Given the description of an element on the screen output the (x, y) to click on. 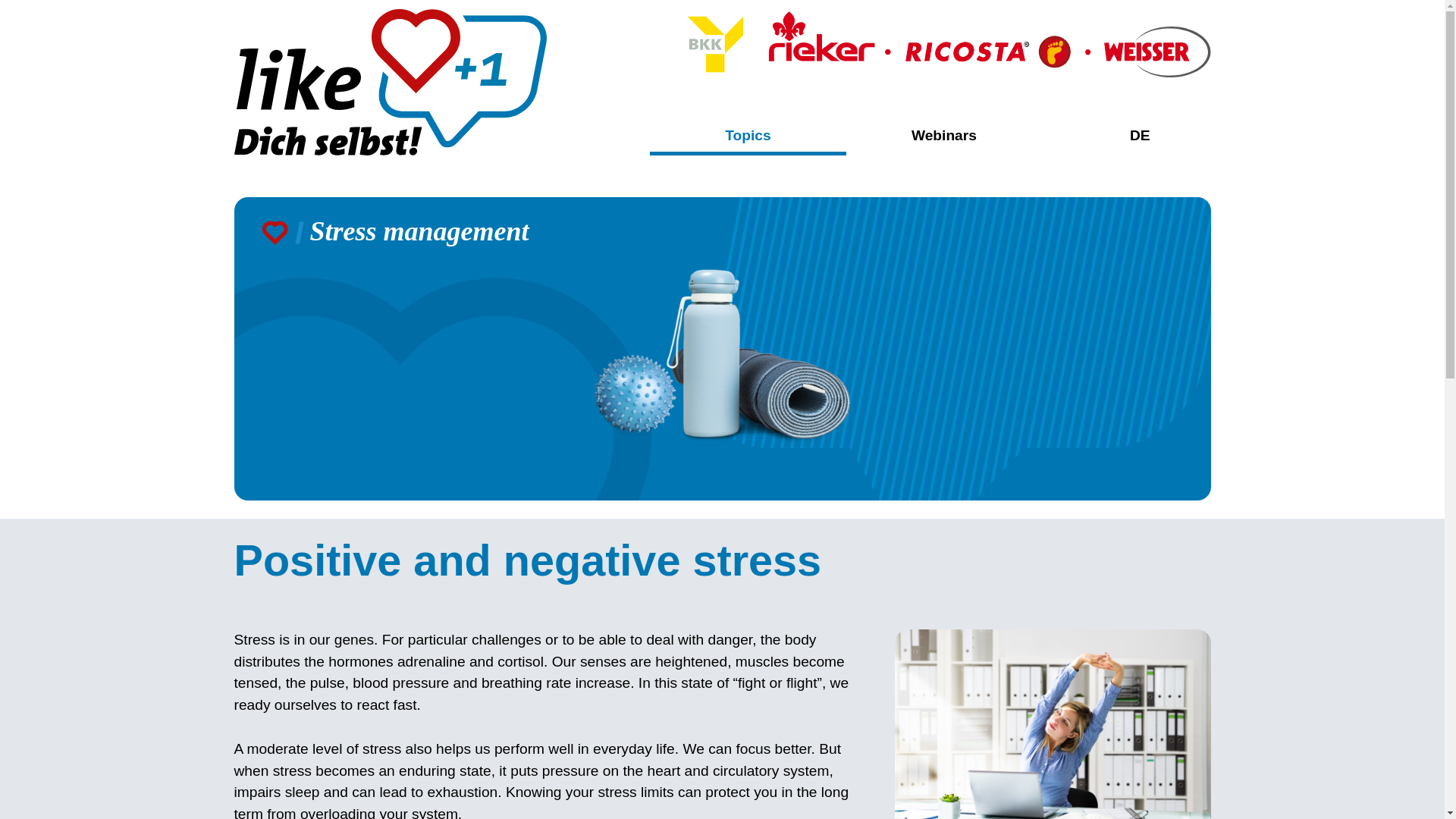
Webinars (943, 135)
DE (1139, 135)
DE (1139, 135)
Topics (747, 137)
